Given the description of an element on the screen output the (x, y) to click on. 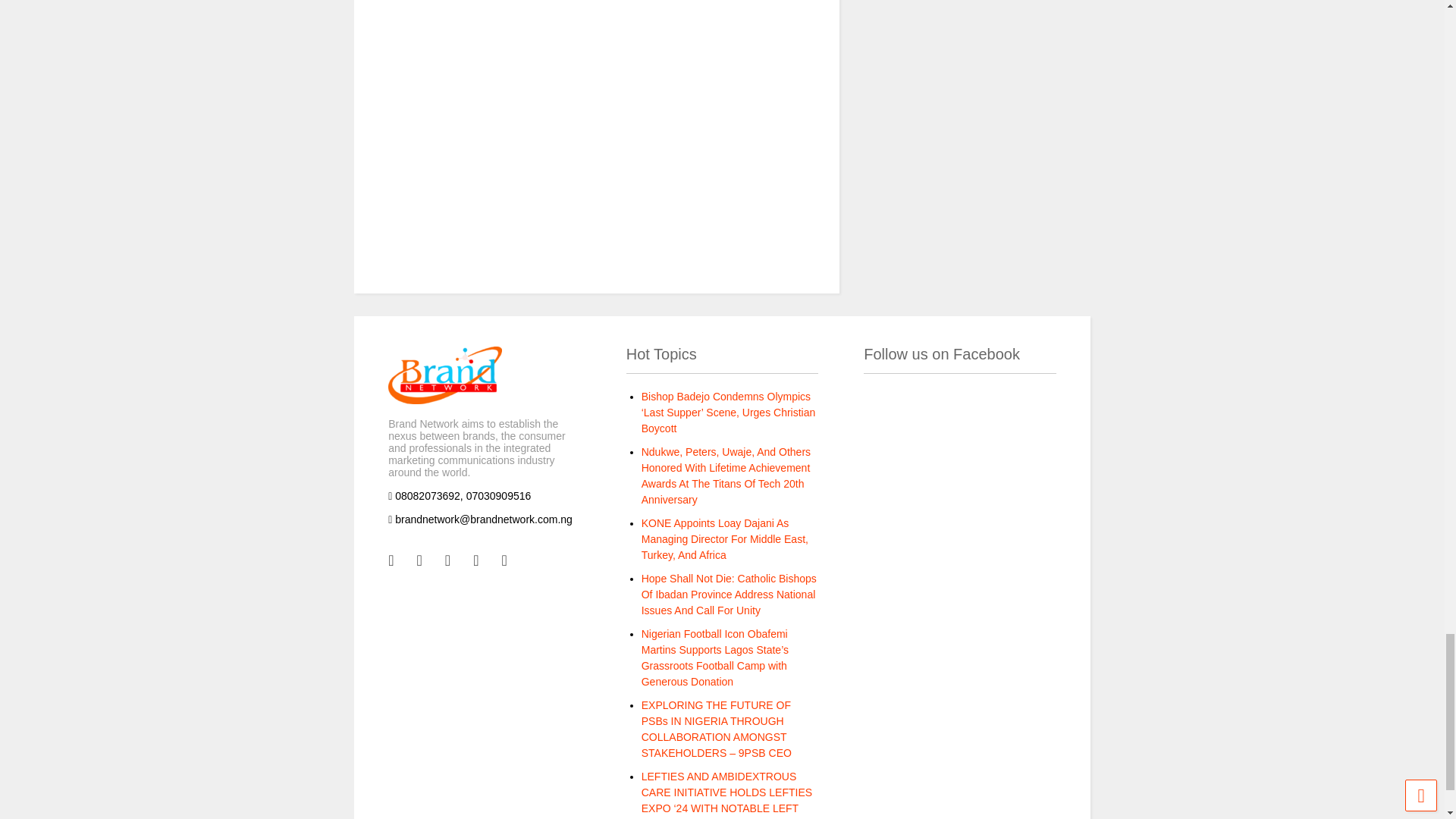
Comment Form (596, 140)
